Given the description of an element on the screen output the (x, y) to click on. 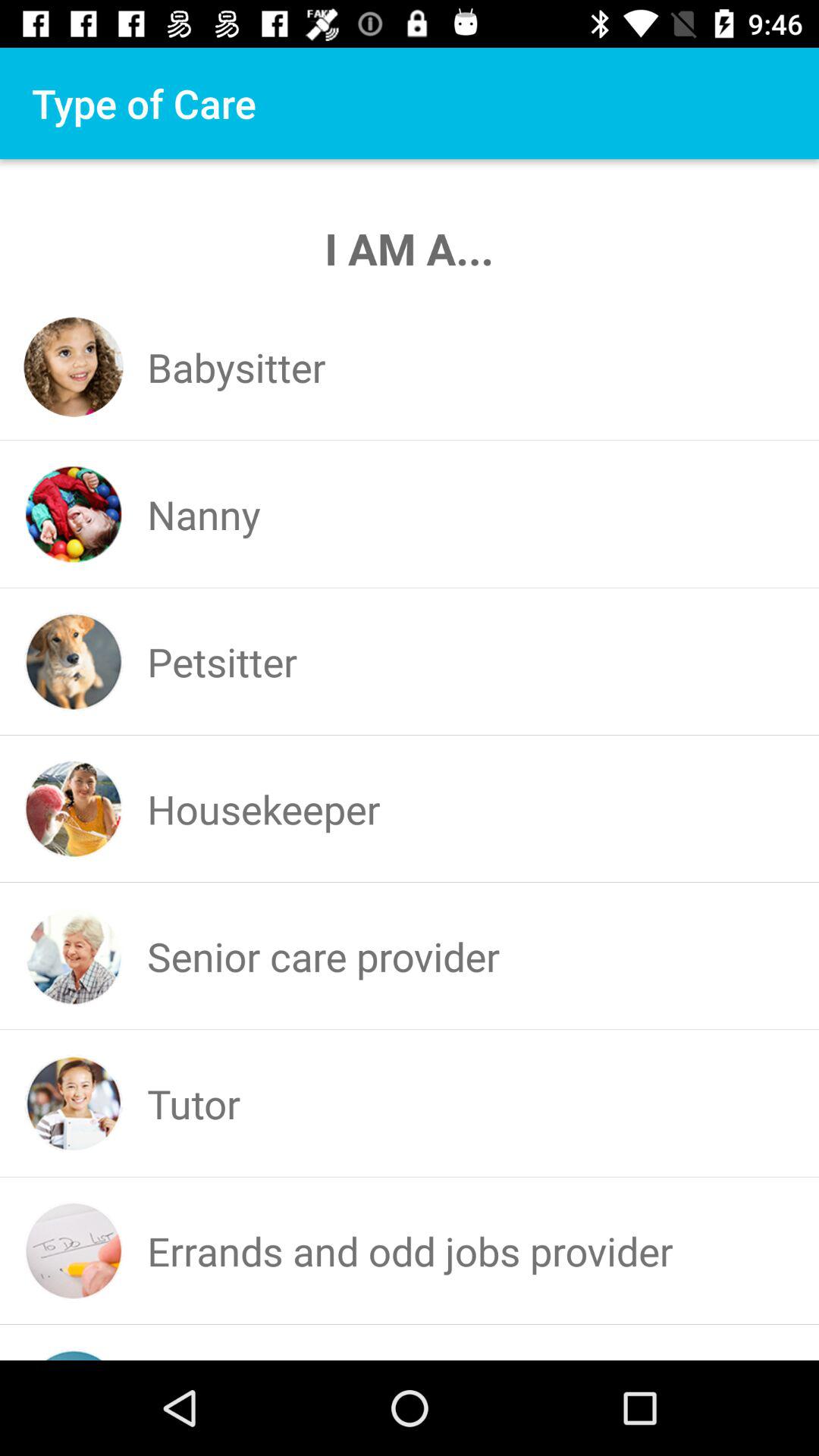
click app below the tutor (410, 1250)
